Given the description of an element on the screen output the (x, y) to click on. 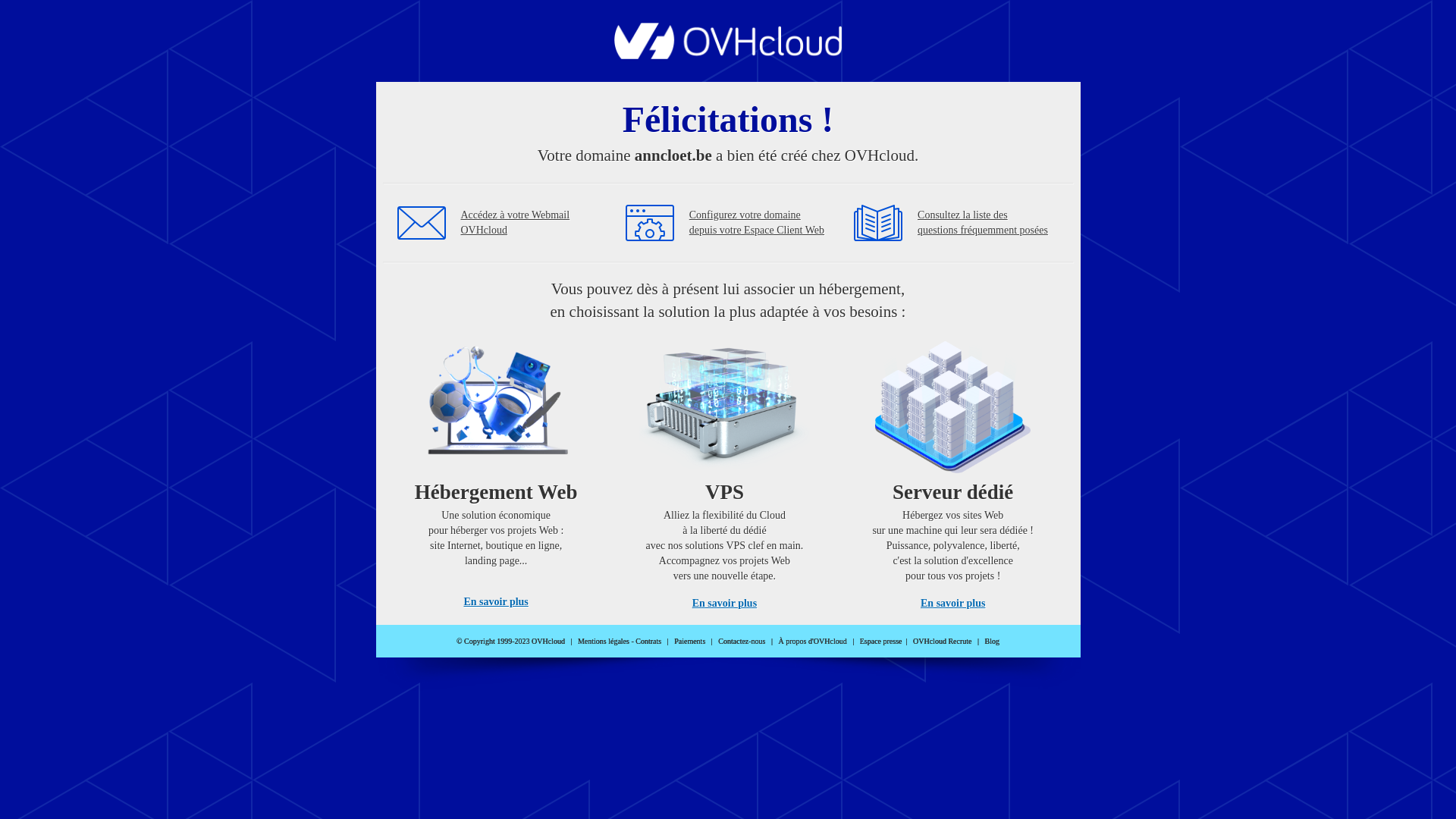
Blog Element type: text (992, 641)
OVHcloud Element type: hover (727, 54)
Contactez-nous Element type: text (741, 641)
OVHcloud Recrute Element type: text (942, 641)
En savoir plus Element type: text (952, 602)
Espace presse Element type: text (880, 641)
VPS Element type: hover (724, 469)
En savoir plus Element type: text (495, 601)
Paiements Element type: text (689, 641)
En savoir plus Element type: text (724, 602)
Configurez votre domaine
depuis votre Espace Client Web Element type: text (756, 222)
